Given the description of an element on the screen output the (x, y) to click on. 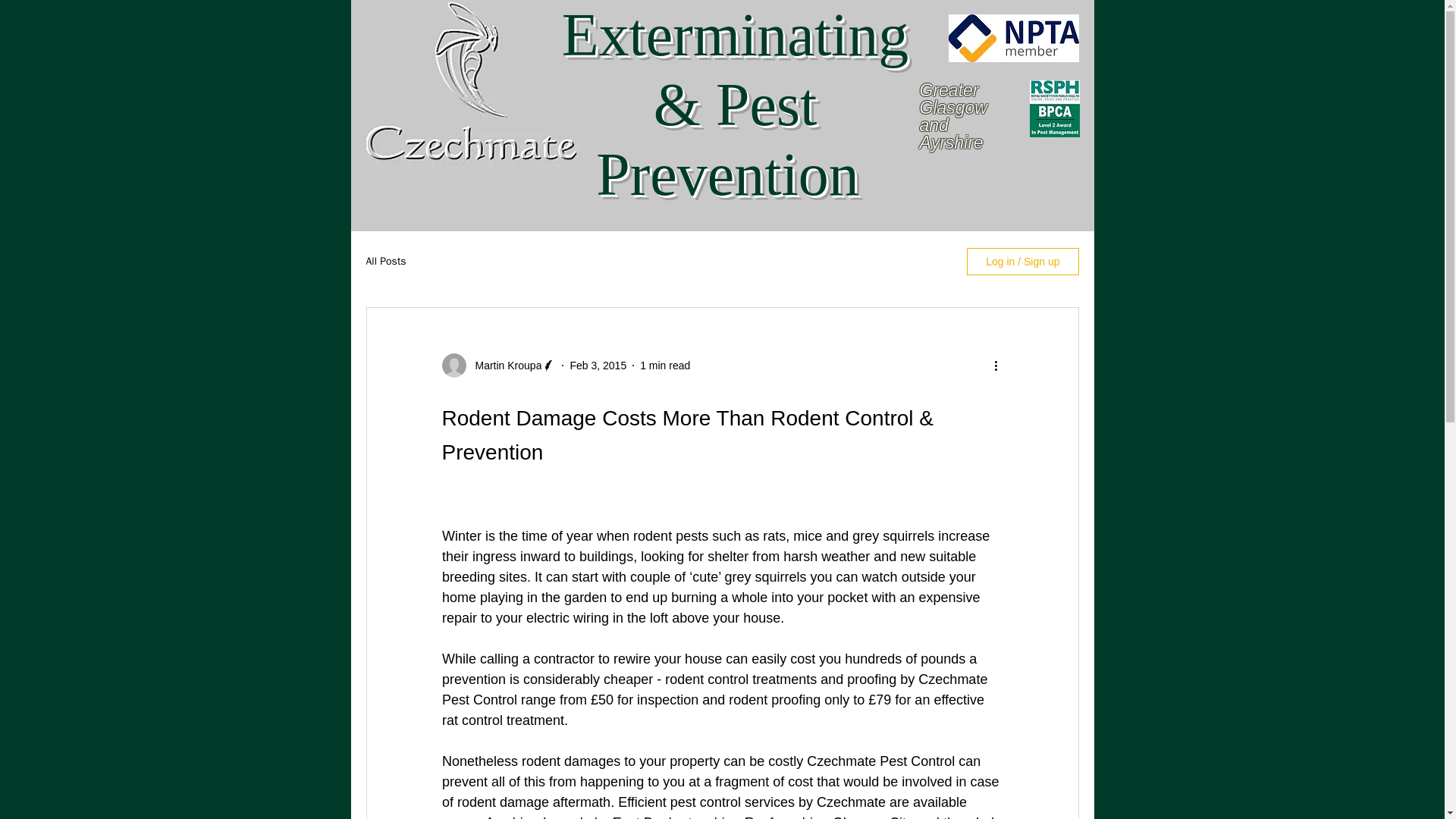
Feb 3, 2015 (597, 365)
1 min read (665, 365)
Martin Kroupa (503, 365)
Czm8's NPTA certificate (1012, 38)
All Posts (385, 261)
